Given the description of an element on the screen output the (x, y) to click on. 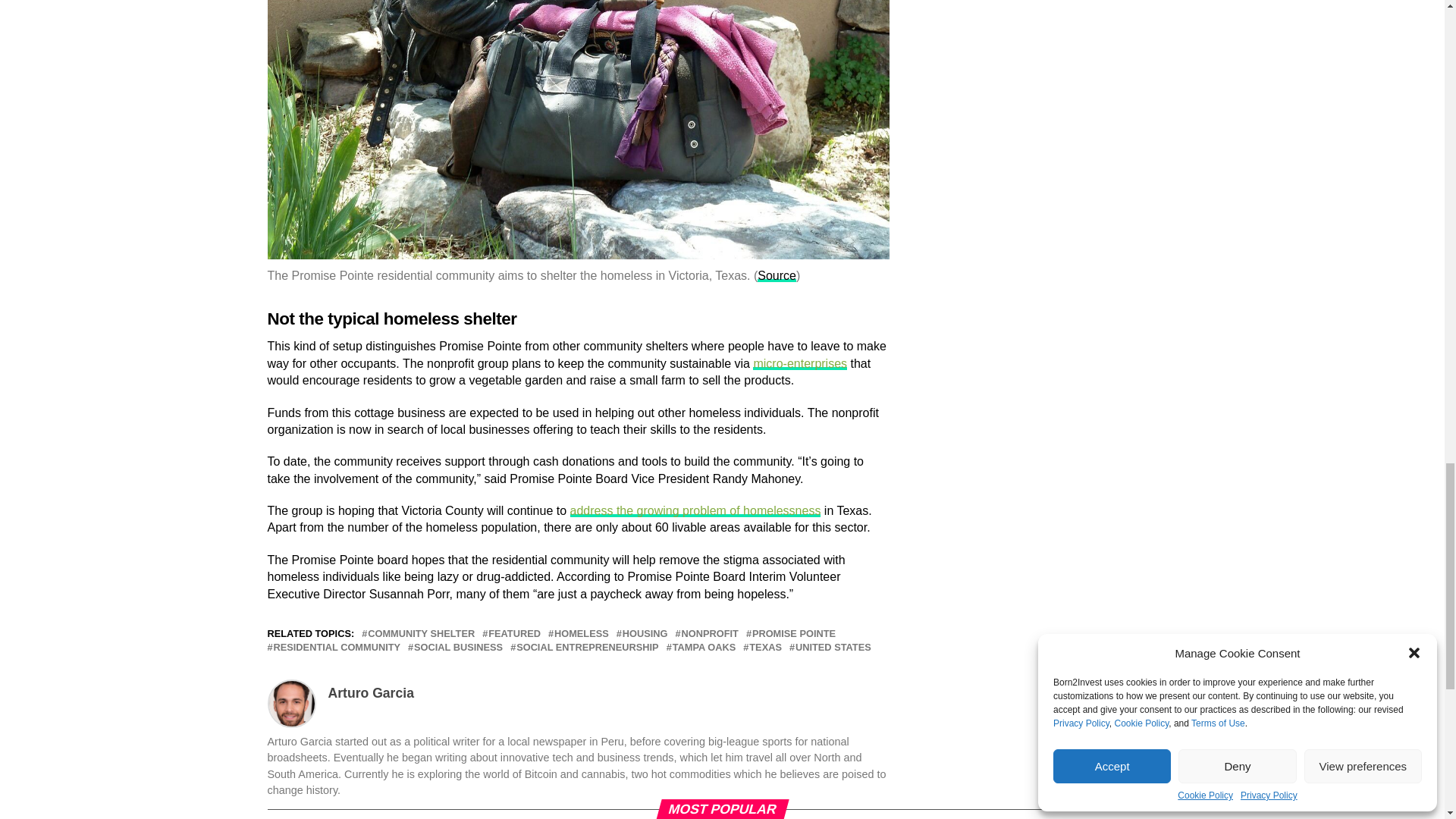
Posts by Arturo Garcia (370, 693)
